Given the description of an element on the screen output the (x, y) to click on. 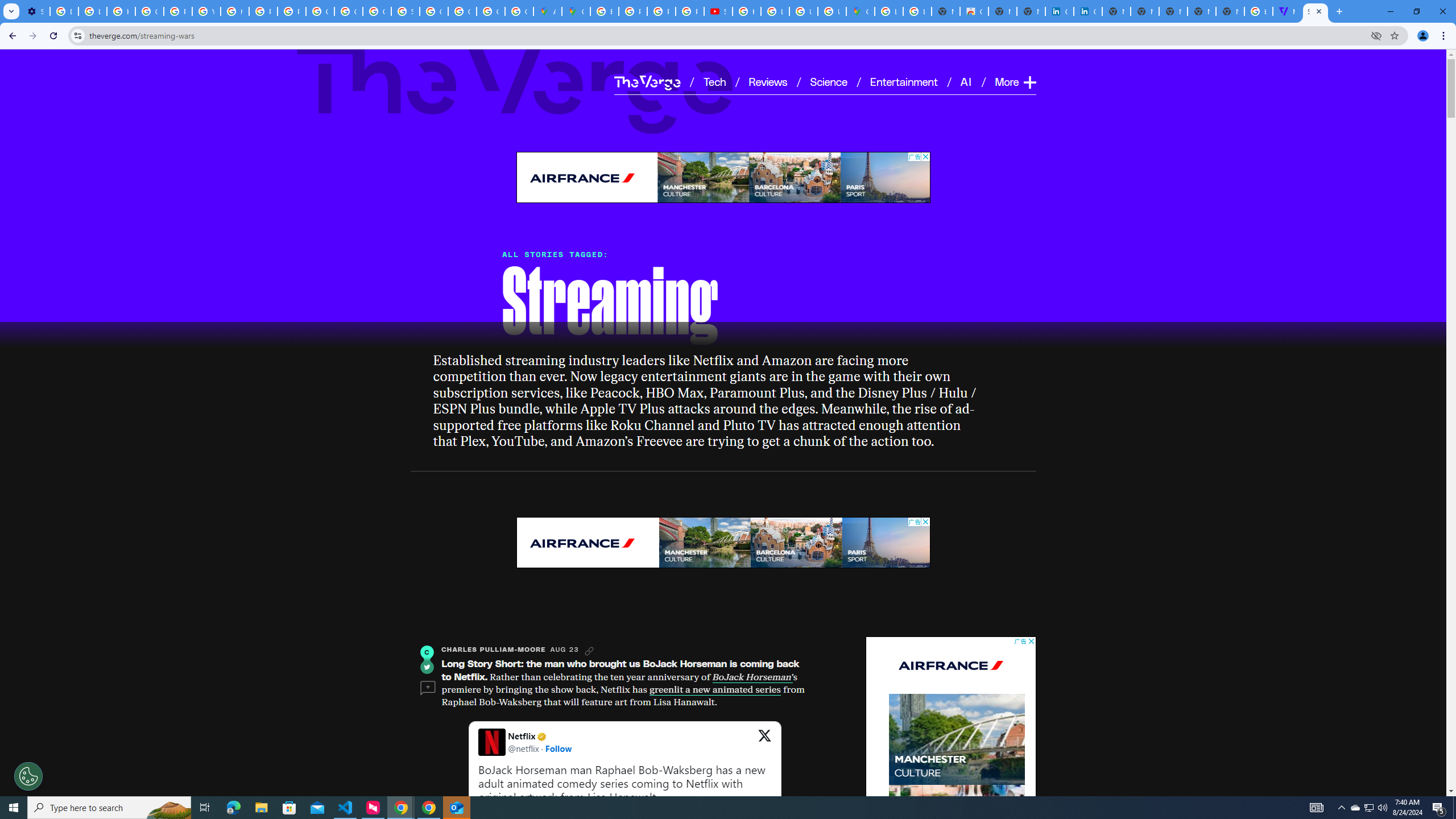
https://scholar.google.com/ (234, 11)
Privacy Help Center - Policies Help (263, 11)
The Verge (646, 82)
Privacy Help Center - Policies Help (632, 11)
Subscriptions - YouTube (718, 11)
Twitter (426, 667)
Link (589, 651)
greenlit a new animated series (714, 689)
